Given the description of an element on the screen output the (x, y) to click on. 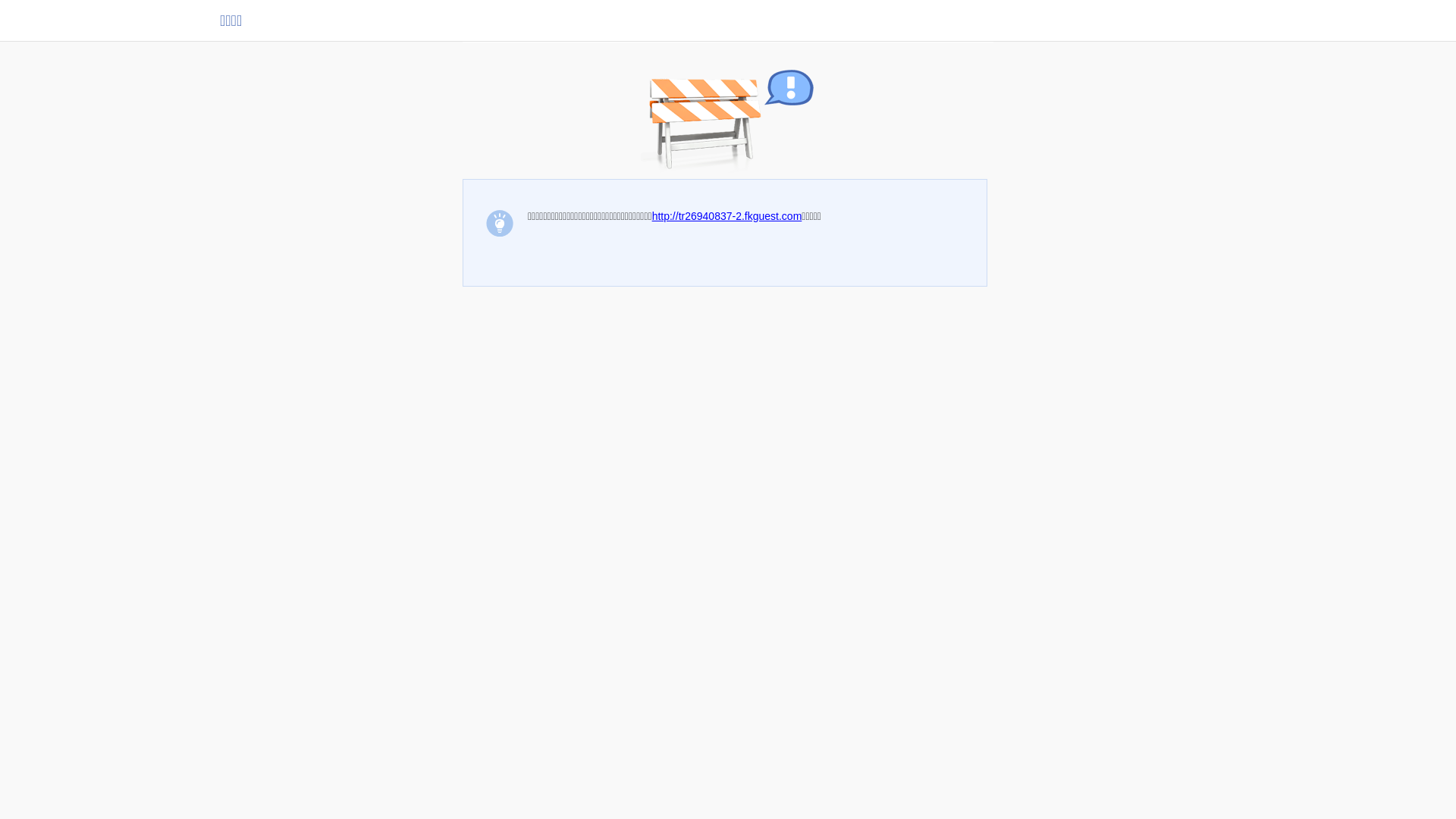
http://tr26940837-2.fkguest.com Element type: text (727, 216)
